Given the description of an element on the screen output the (x, y) to click on. 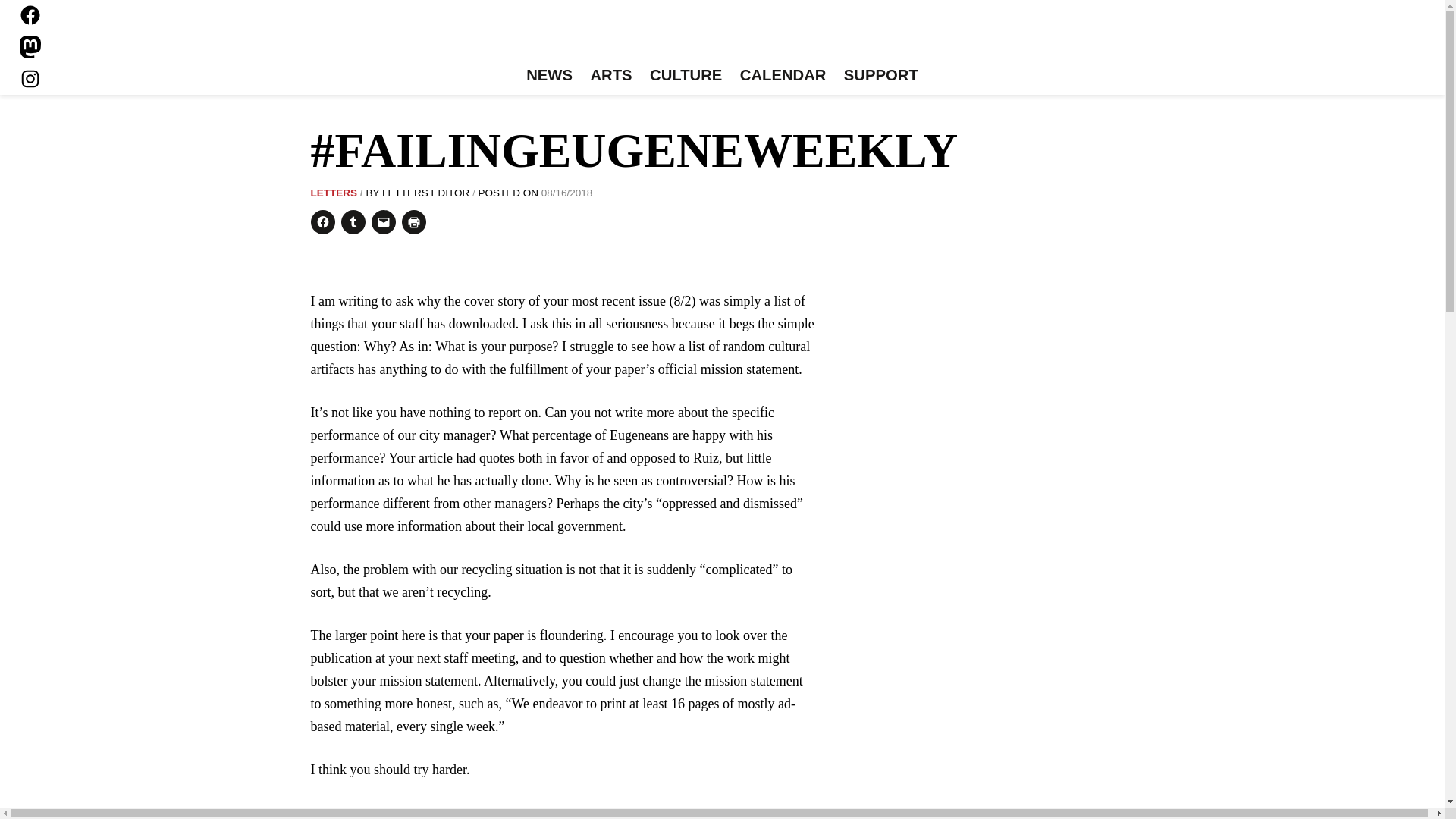
ARTS (611, 75)
SUPPORT (880, 75)
NEWS (548, 75)
Instagram (30, 78)
CULTURE (685, 75)
Eugene Weekly (721, 37)
Click to print (413, 221)
Click to share on Tumblr (352, 221)
Facebook (30, 15)
Click to email a link to a friend (383, 221)
